Given the description of an element on the screen output the (x, y) to click on. 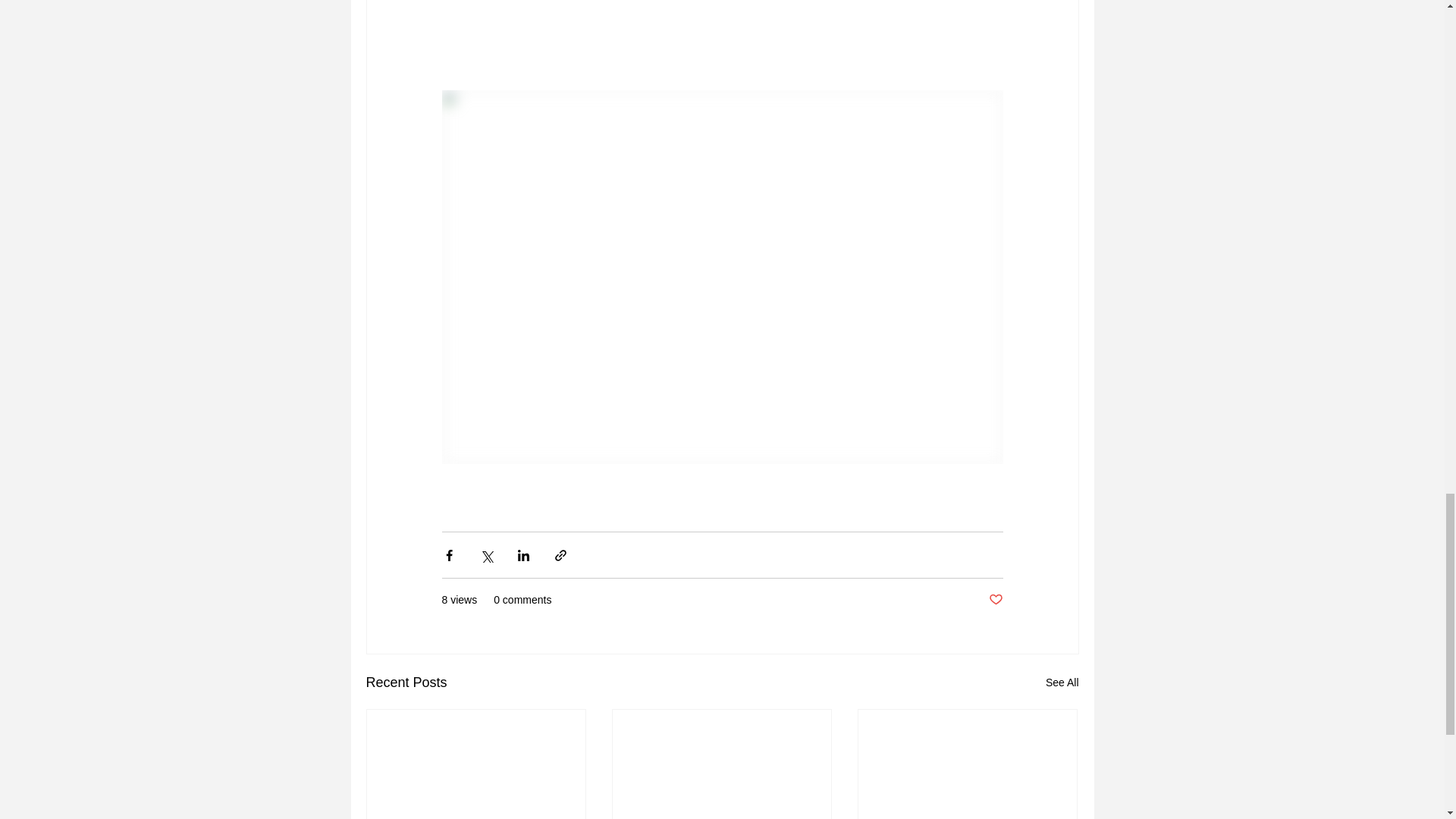
See All (1061, 682)
Post not marked as liked (995, 600)
